Given the description of an element on the screen output the (x, y) to click on. 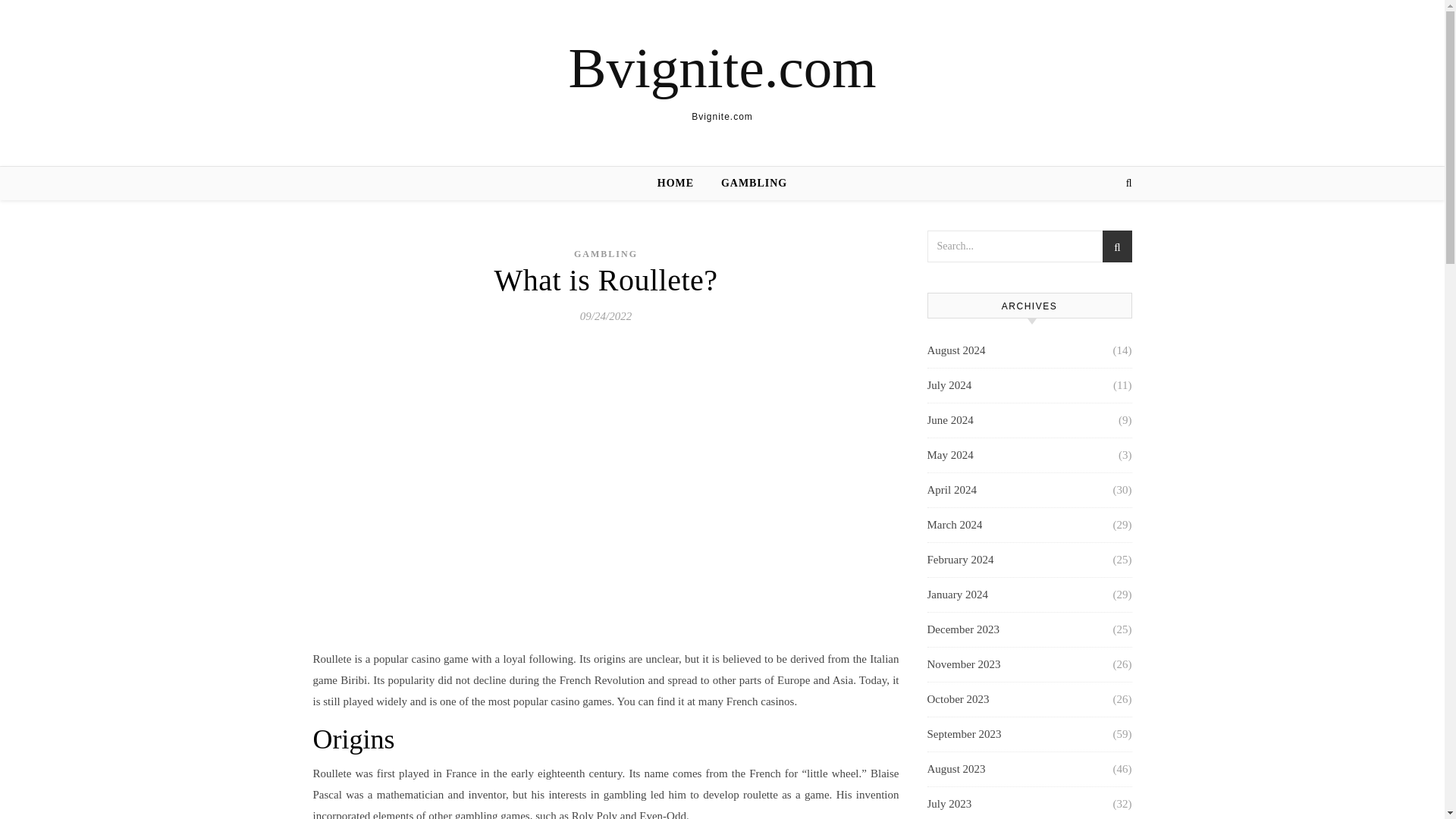
June 2024 (949, 420)
January 2024 (956, 594)
What is Roullete? (605, 279)
November 2023 (963, 664)
May 2024 (949, 455)
August 2023 (955, 769)
October 2023 (957, 699)
December 2023 (962, 629)
August 2024 (955, 350)
GAMBLING (748, 183)
